Given the description of an element on the screen output the (x, y) to click on. 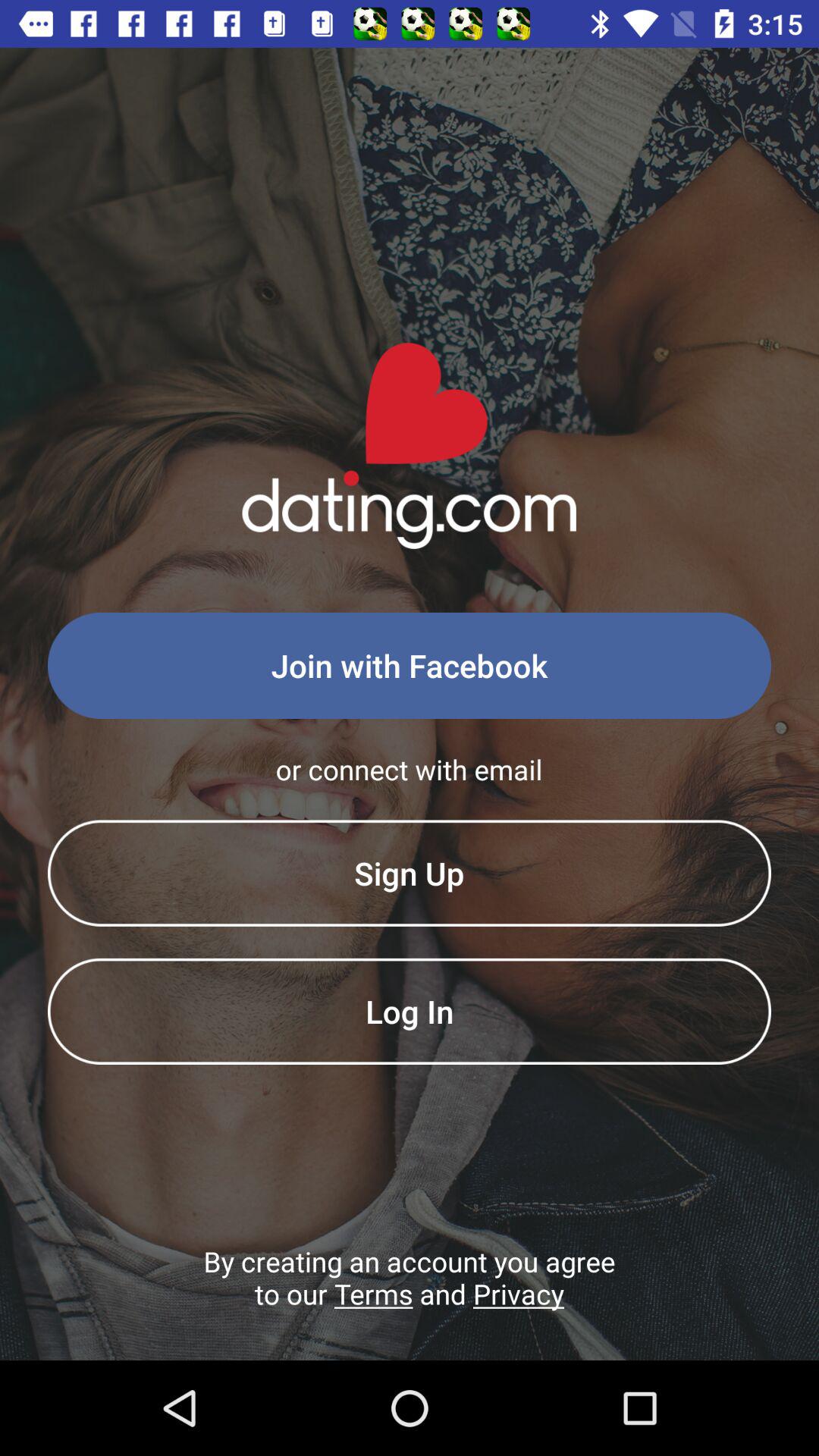
select log in (409, 1011)
